Given the description of an element on the screen output the (x, y) to click on. 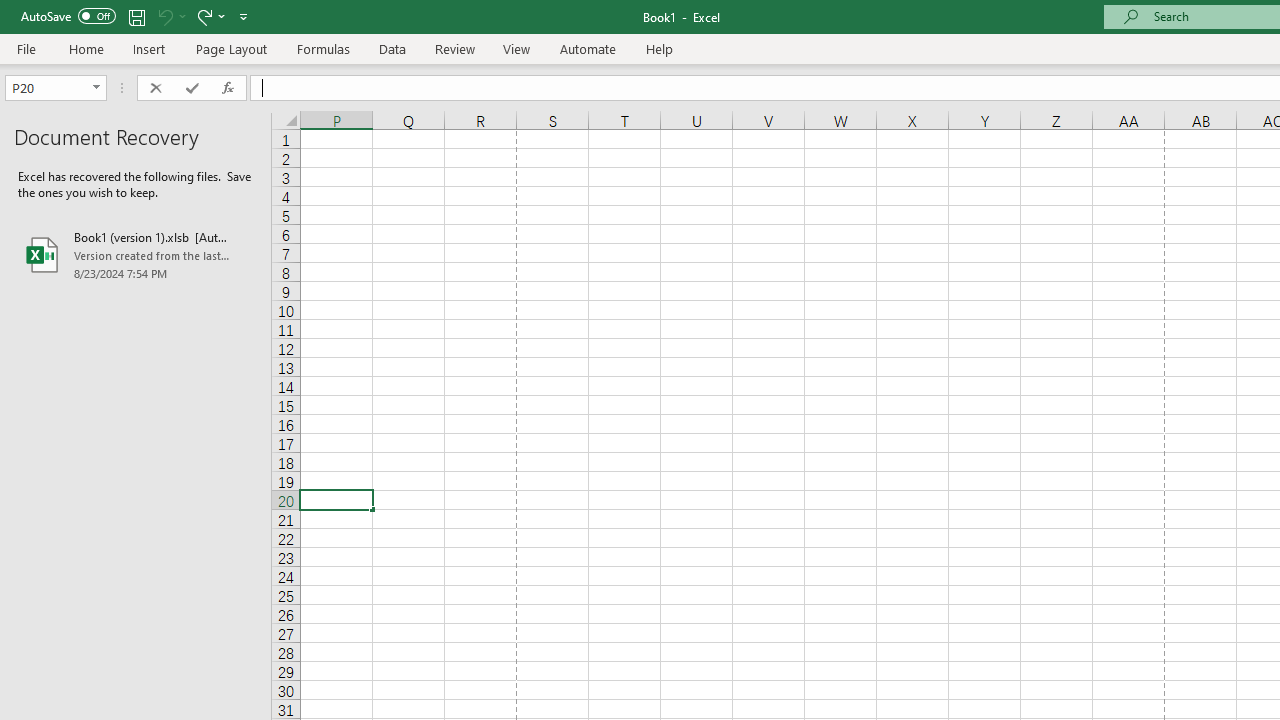
Automate (588, 48)
AutoSave (68, 16)
